Given the description of an element on the screen output the (x, y) to click on. 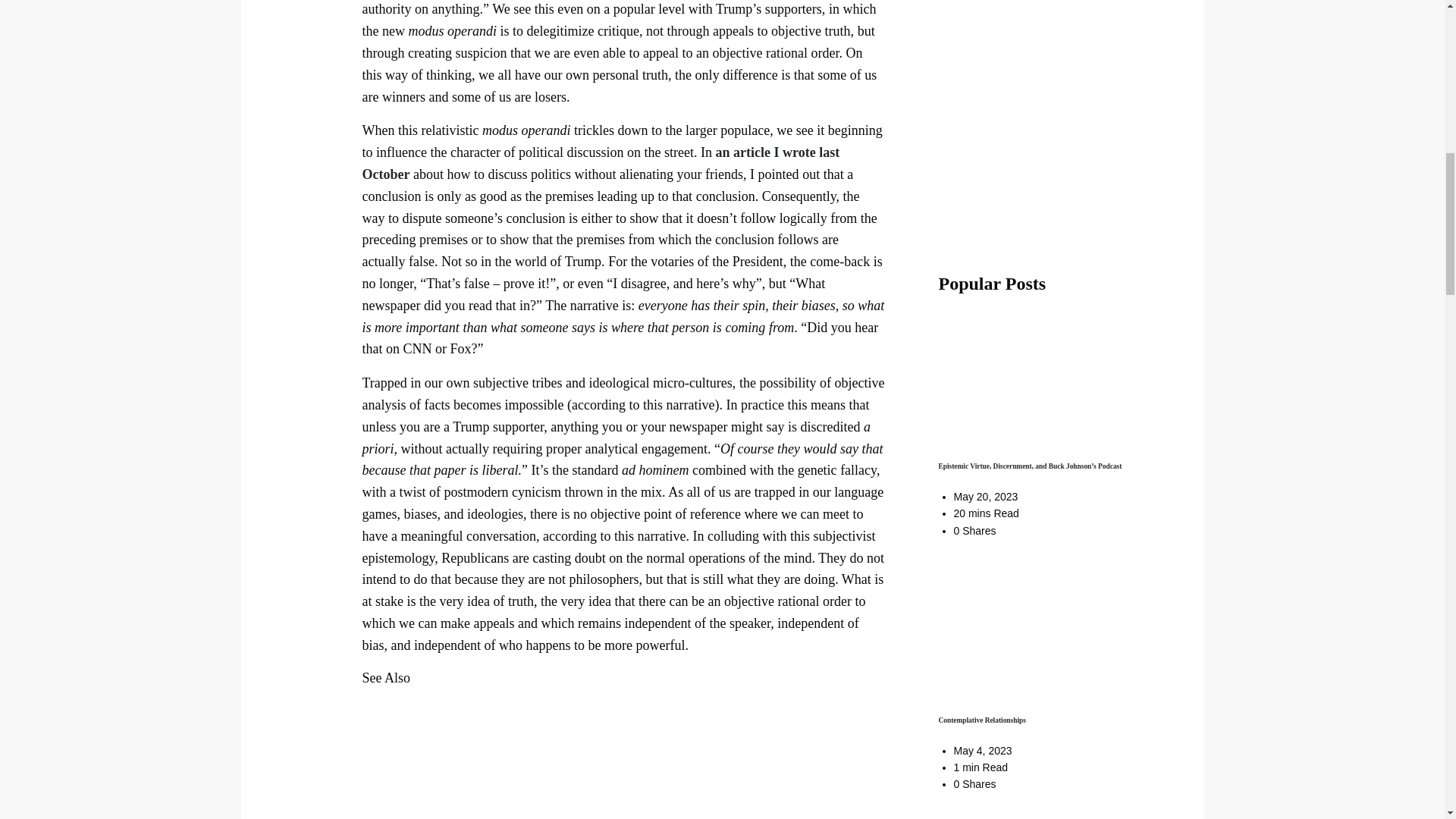
Contemplative Relationships (982, 719)
an article I wrote last October (601, 162)
Contemplative Relationships (982, 719)
